Given the description of an element on the screen output the (x, y) to click on. 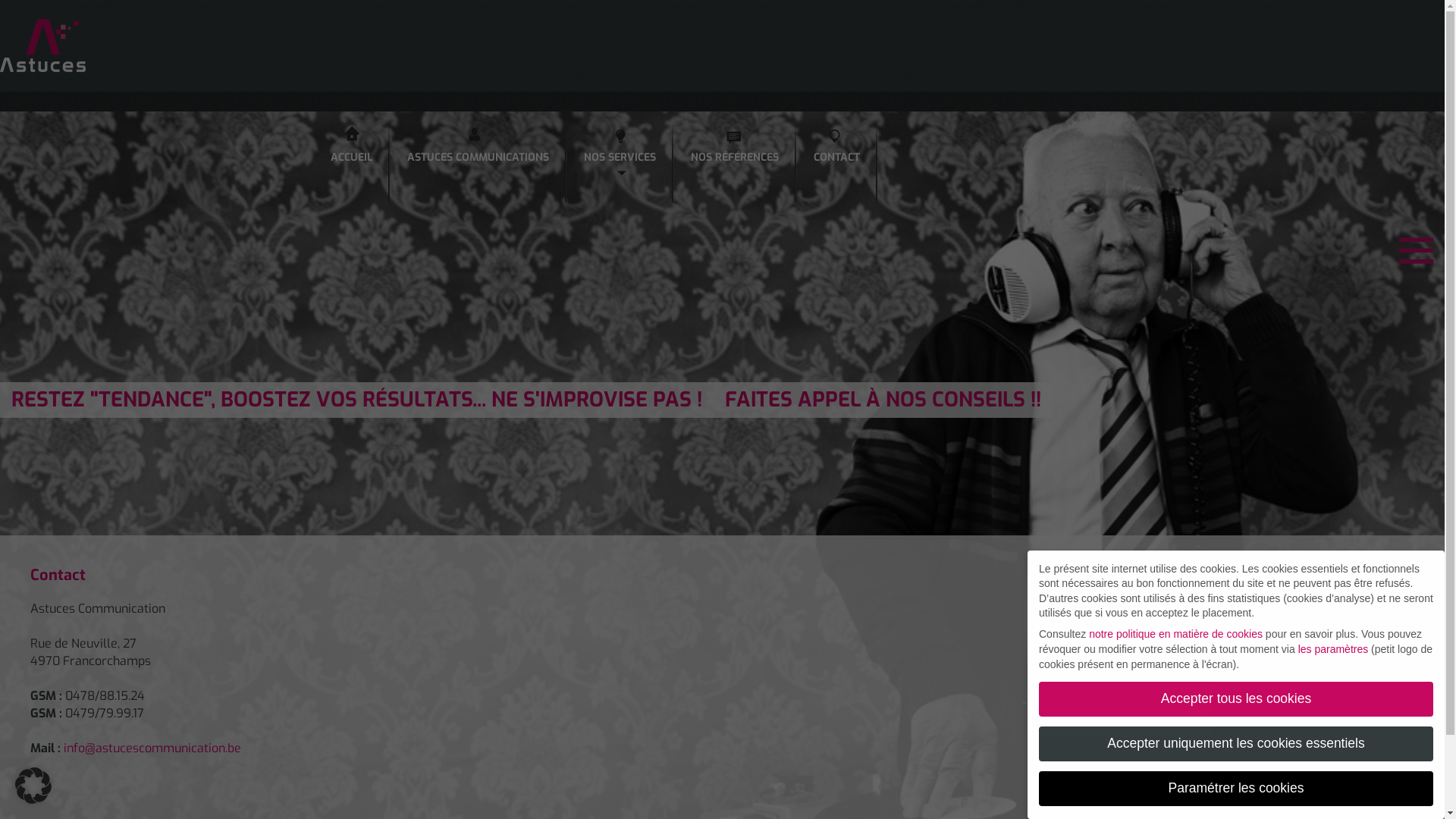
ACCUEIL Element type: text (350, 146)
CONTACT Element type: text (836, 146)
Accepter uniquement les cookies essentiels Element type: text (1235, 743)
info@astucescommunication.be Element type: text (152, 748)
Accepter tous les cookies Element type: text (1235, 698)
Astuces Element type: hover (722, 45)
ASTUCES COMMUNICATIONS Element type: text (477, 146)
NOS SERVICES Element type: text (618, 146)
